Given the description of an element on the screen output the (x, y) to click on. 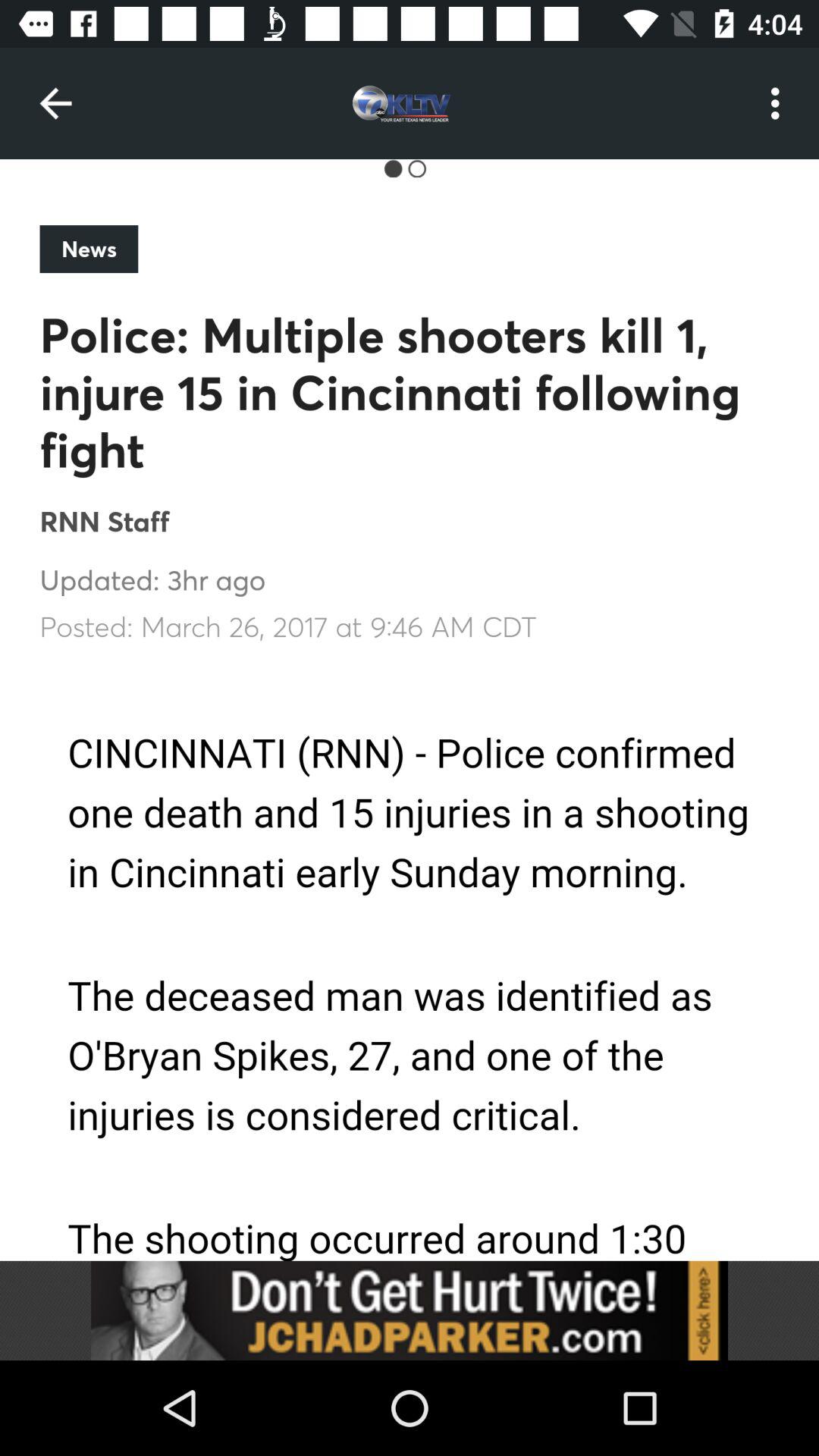
text option (409, 962)
